Given the description of an element on the screen output the (x, y) to click on. 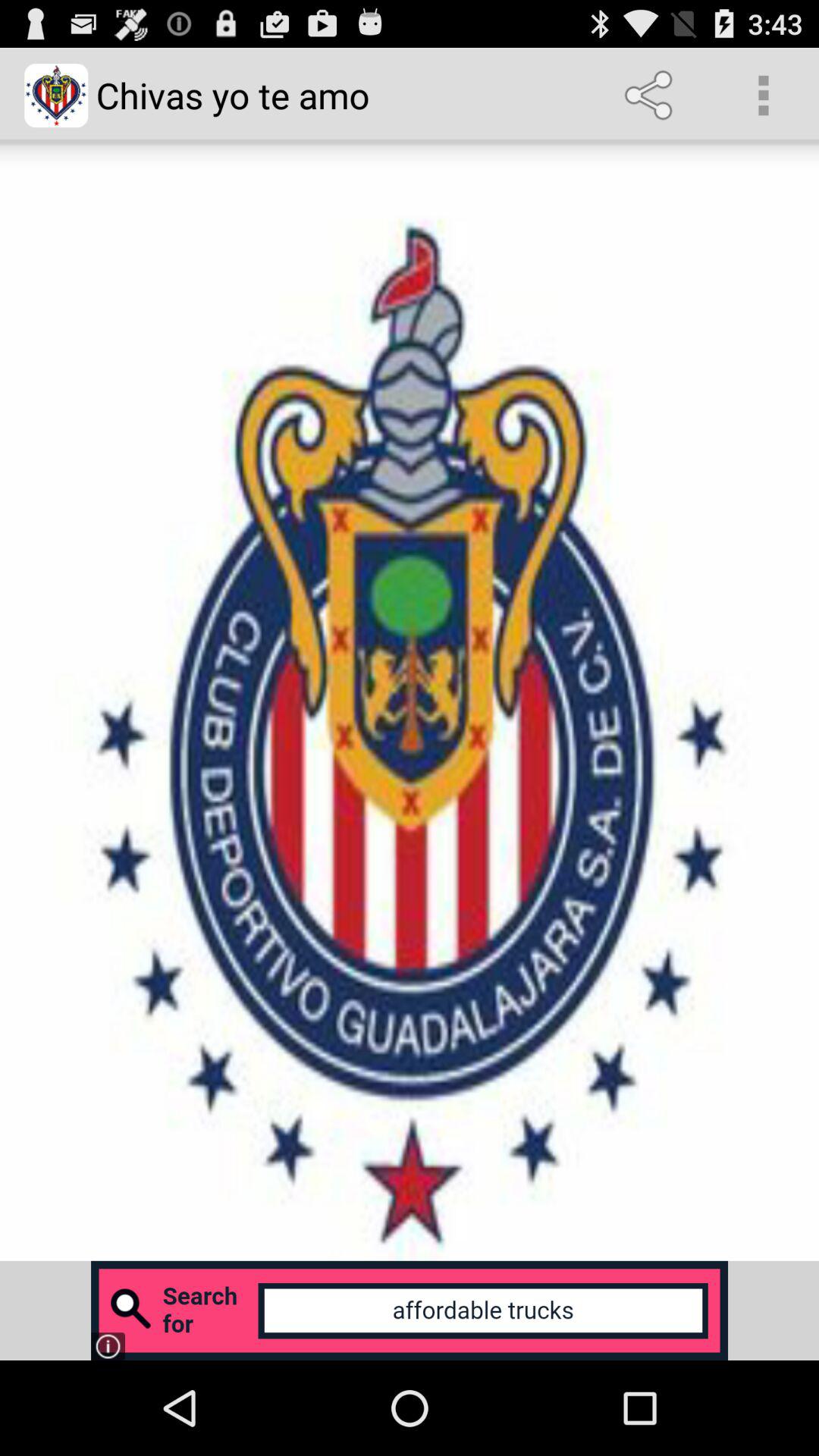
launch app to the right of chivas yo te item (651, 95)
